Given the description of an element on the screen output the (x, y) to click on. 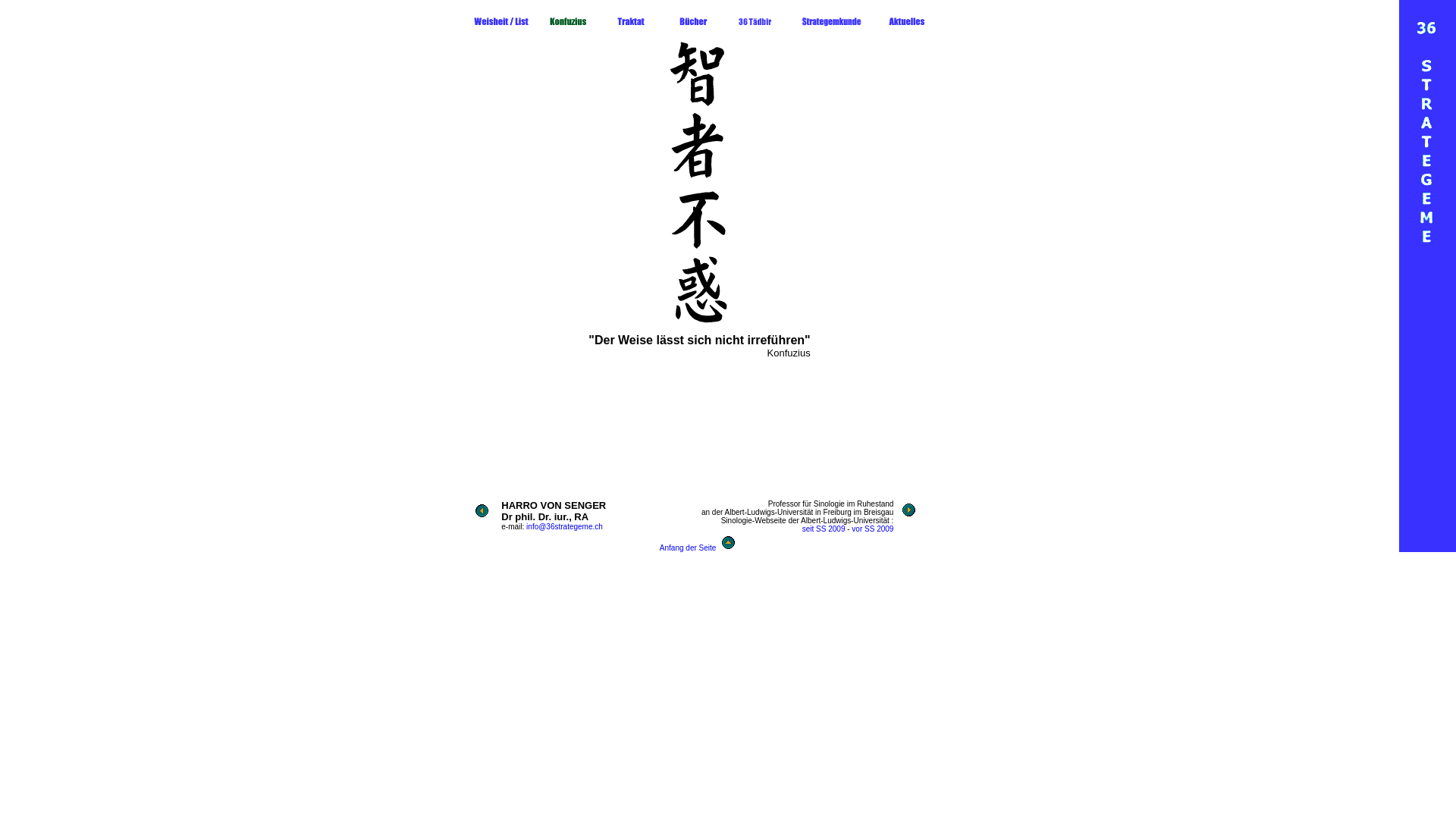
info@36strategeme.ch Element type: text (564, 526)
seit SS 2009 Element type: text (823, 528)
Anfang der Seite Element type: text (687, 547)
vor SS 2009 Element type: text (872, 528)
